Given the description of an element on the screen output the (x, y) to click on. 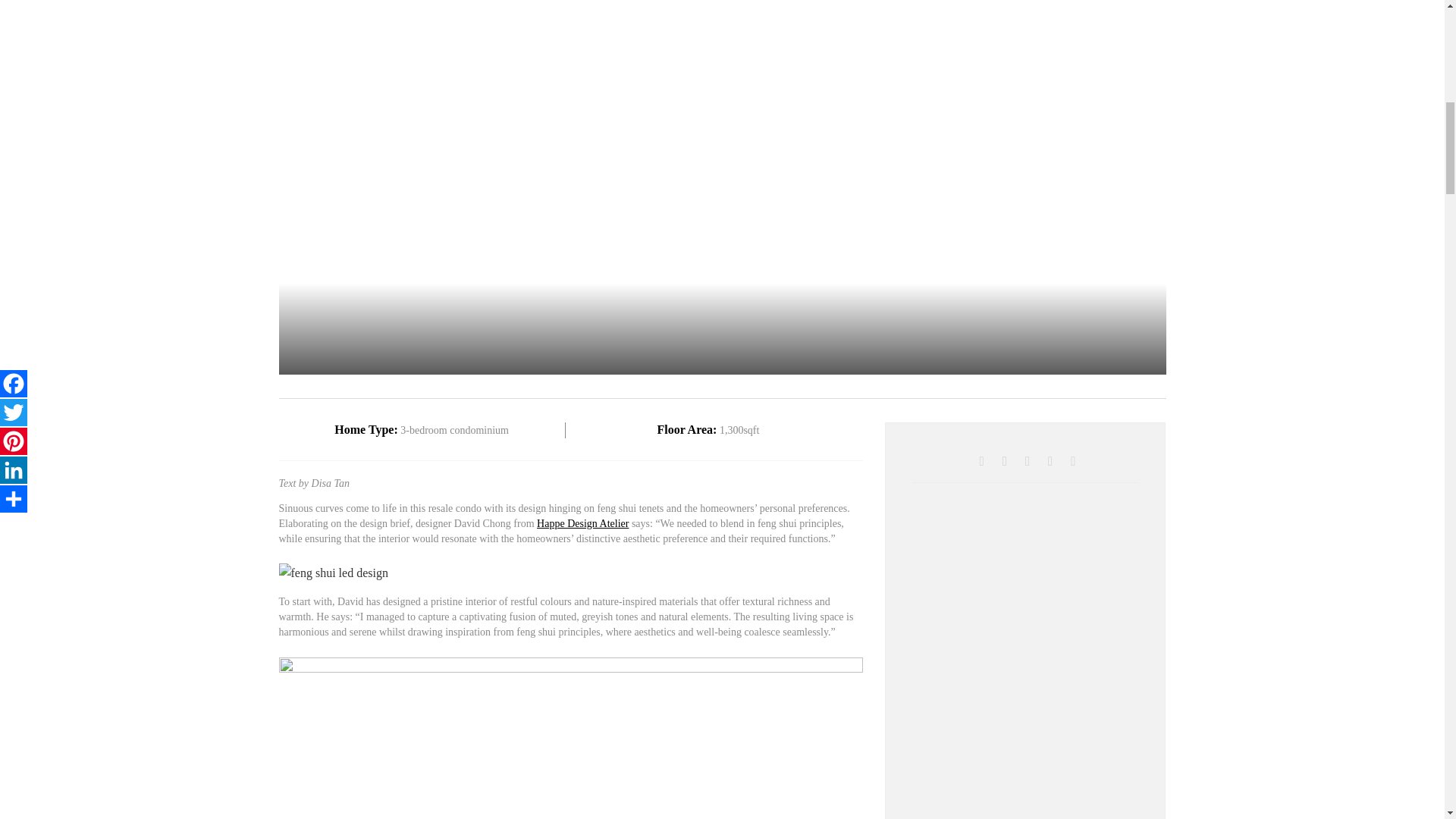
Happe Design Atelier (582, 523)
